Given the description of an element on the screen output the (x, y) to click on. 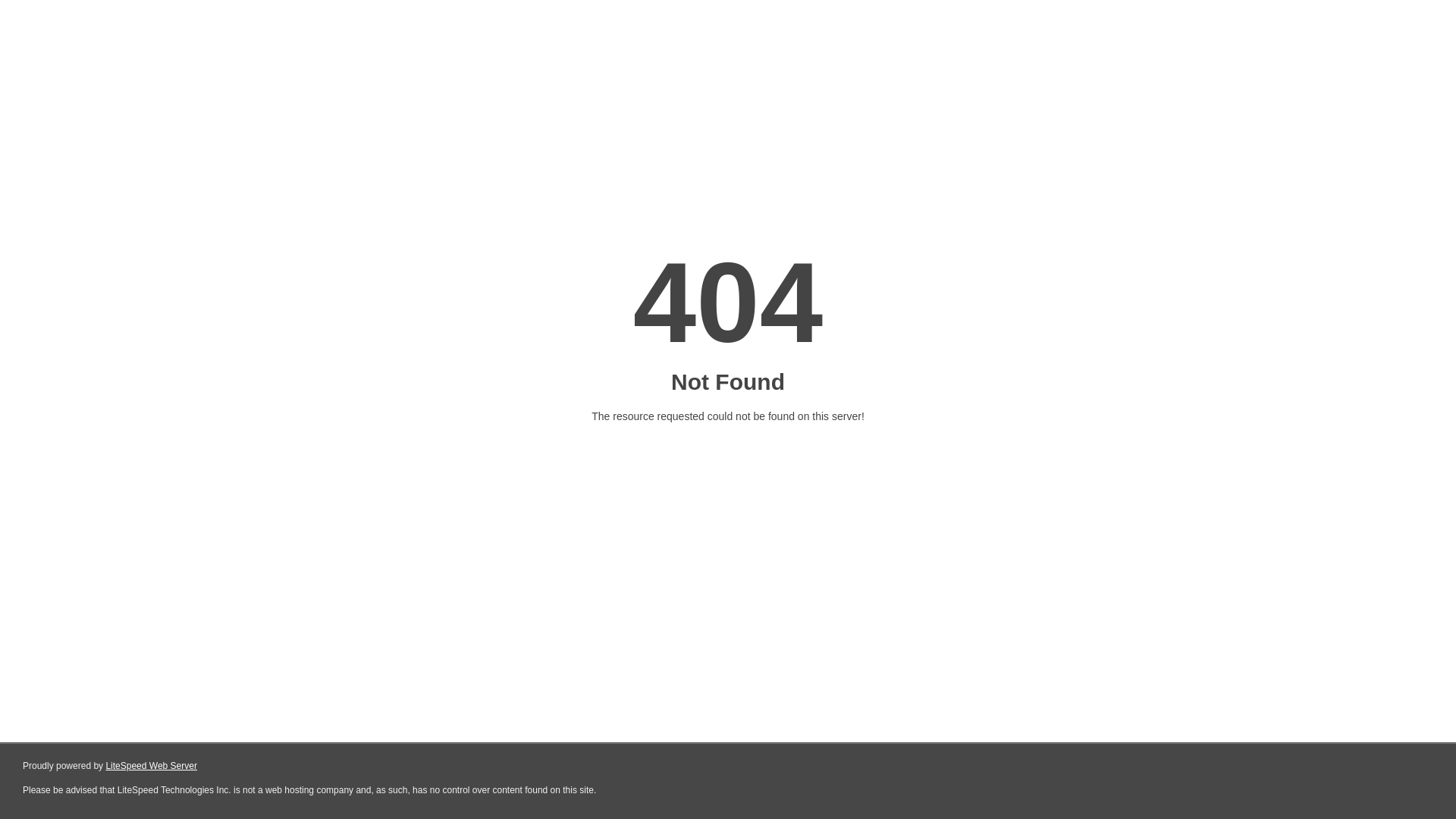
LiteSpeed Web Server Element type: text (151, 765)
